Given the description of an element on the screen output the (x, y) to click on. 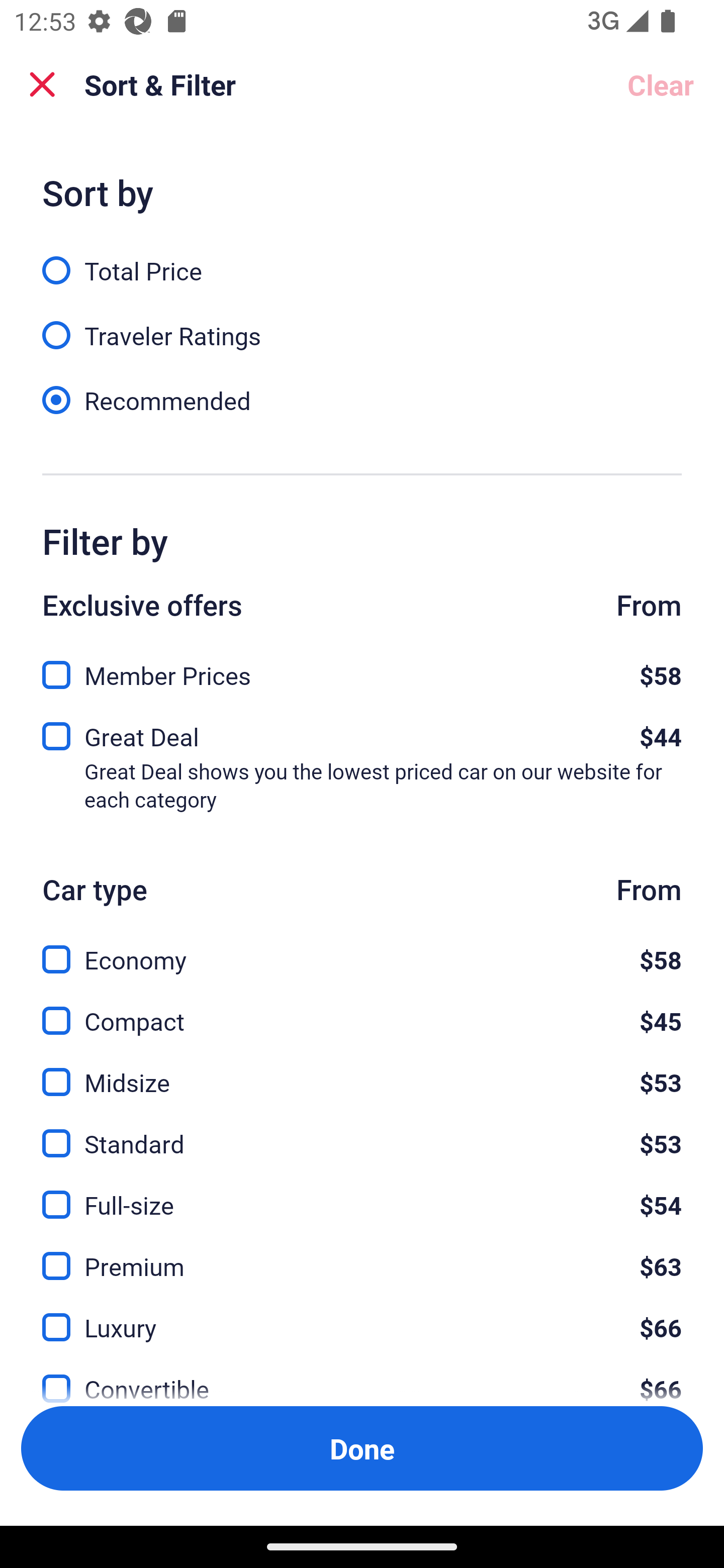
Close Sort and Filter (42, 84)
Clear (660, 84)
Total Price (361, 259)
Traveler Ratings (361, 324)
Member Prices, $58 Member Prices $58 (361, 669)
Economy, $58 Economy $58 (361, 947)
Compact, $45 Compact $45 (361, 1008)
Midsize, $53 Midsize $53 (361, 1070)
Standard, $53 Standard $53 (361, 1132)
Full-size, $54 Full-size $54 (361, 1193)
Premium, $63 Premium $63 (361, 1254)
Luxury, $66 Luxury $66 (361, 1315)
Convertible, $66 Convertible $66 (361, 1376)
Apply and close Sort and Filter Done (361, 1448)
